Given the description of an element on the screen output the (x, y) to click on. 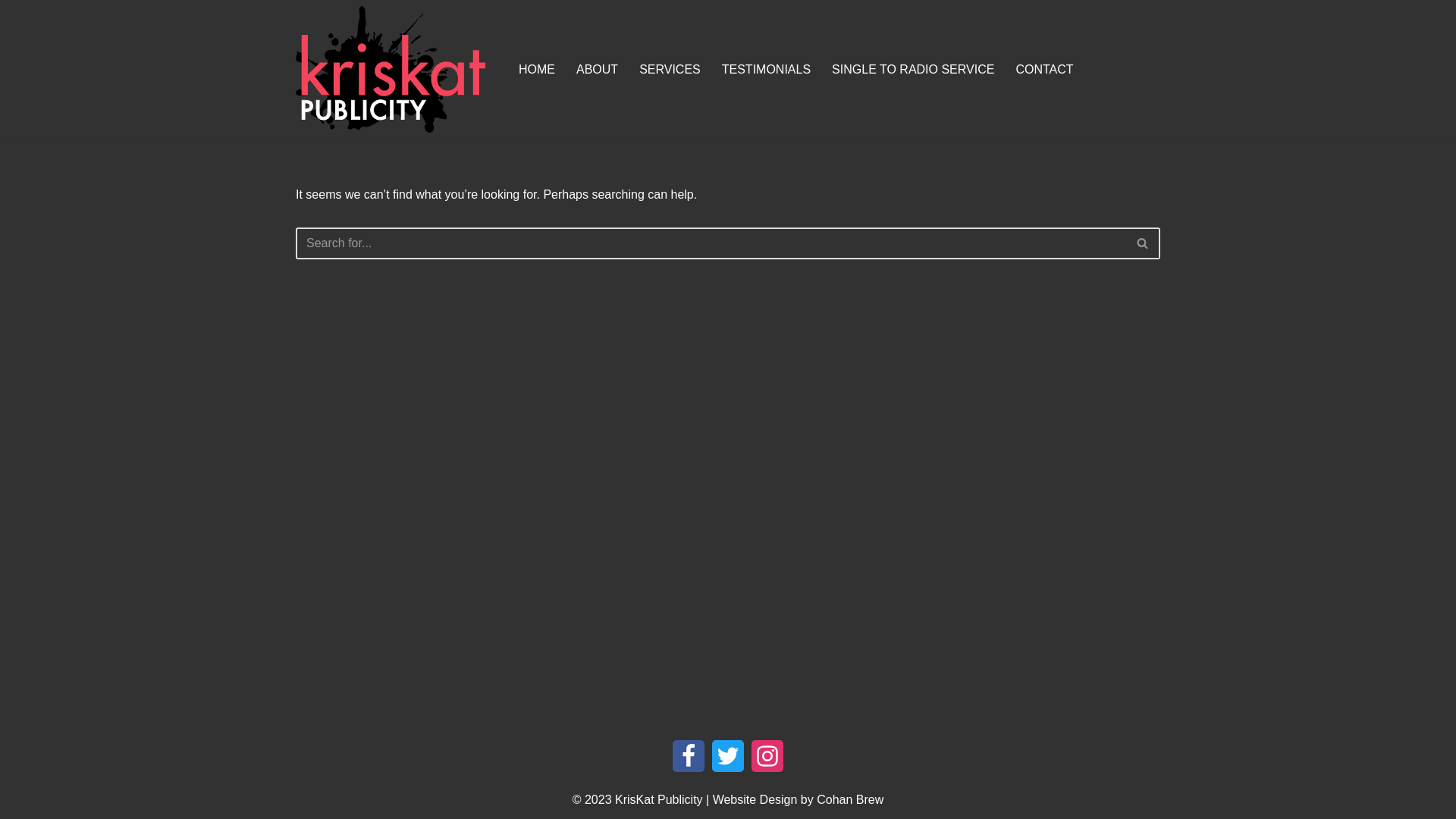
TESTIMONIALS Element type: text (765, 69)
Twitter Element type: hover (727, 755)
Skip to content Element type: text (11, 31)
SERVICES Element type: text (669, 69)
CONTACT Element type: text (1044, 69)
ABOUT Element type: text (597, 69)
Facebook Element type: hover (688, 755)
HOME Element type: text (536, 69)
SINGLE TO RADIO SERVICE Element type: text (912, 69)
Website Design by Cohan Brew Element type: text (798, 799)
Instagram Element type: hover (767, 755)
KrisKat Publicity Element type: text (658, 799)
